Given the description of an element on the screen output the (x, y) to click on. 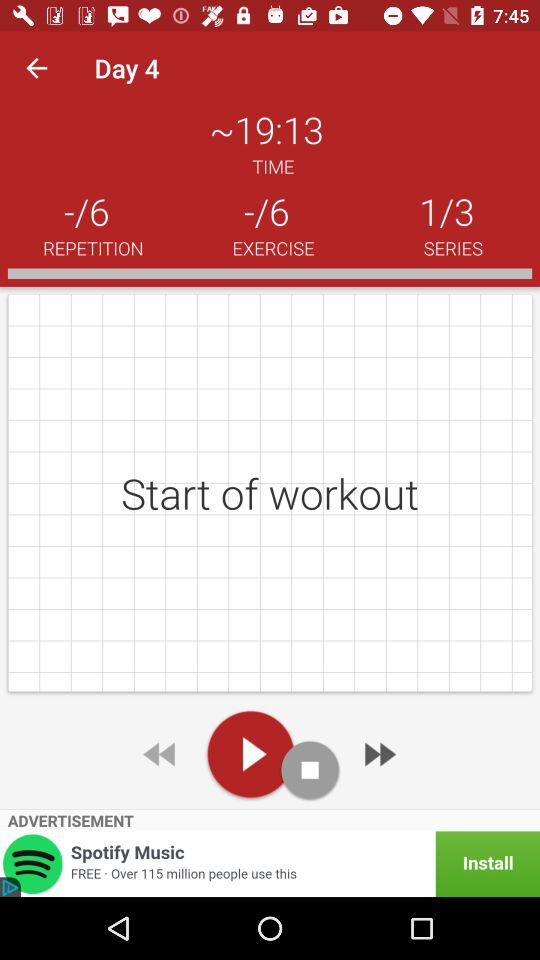
stop (309, 769)
